Given the description of an element on the screen output the (x, y) to click on. 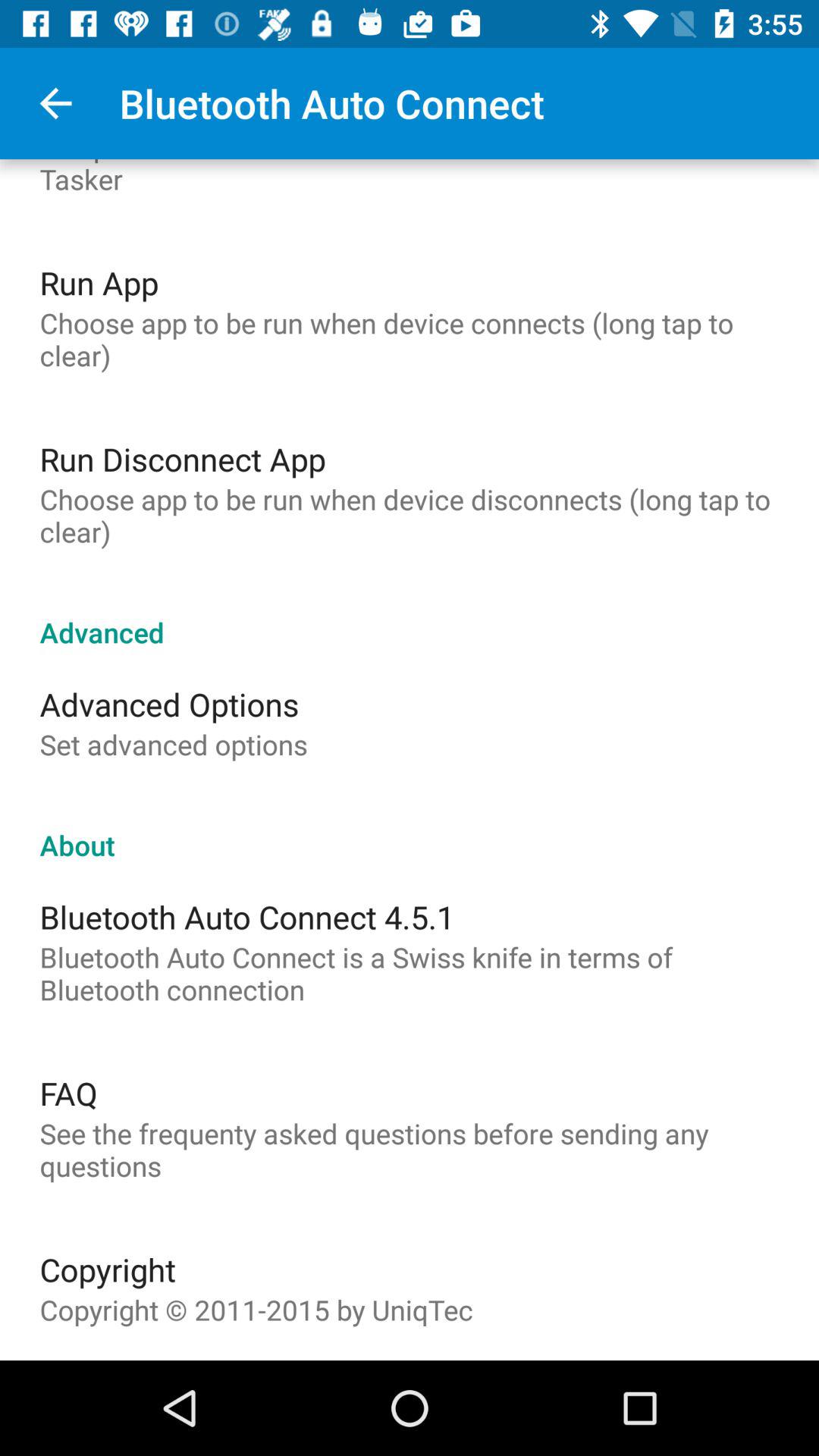
press the item above the the preference misc icon (55, 103)
